Given the description of an element on the screen output the (x, y) to click on. 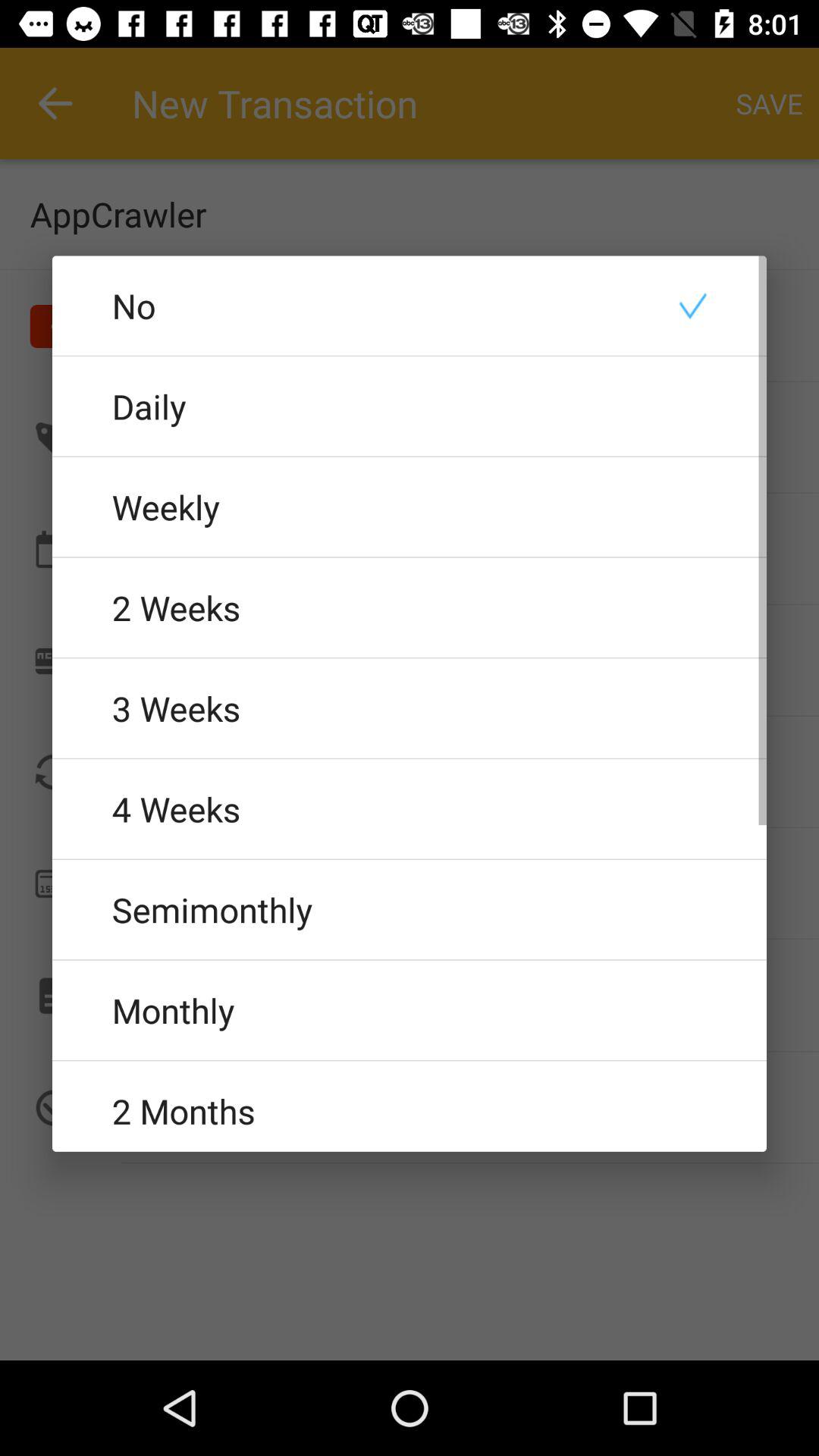
flip until 4 weeks (409, 808)
